Given the description of an element on the screen output the (x, y) to click on. 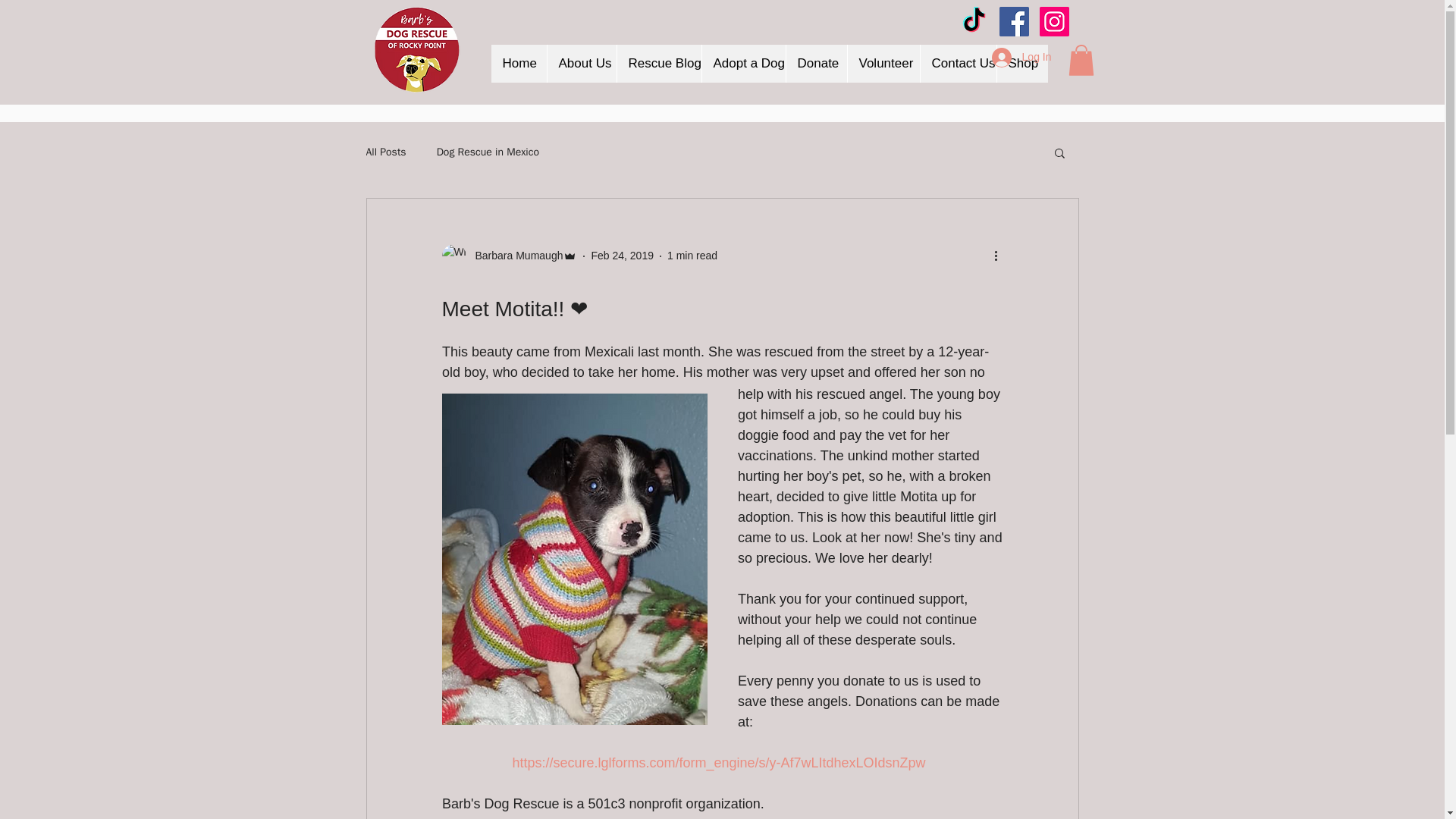
Donate (816, 63)
Barbara Mumaugh (508, 256)
Feb 24, 2019 (622, 255)
Adopt a Dog (742, 63)
Volunteer (881, 63)
Log In (1021, 57)
Rescue Blog (657, 63)
All Posts (385, 151)
About Us (580, 63)
Contact Us (956, 63)
1 min read (691, 255)
Shop (1021, 63)
Home (519, 63)
Dog Rescue in Mexico (487, 151)
Barbara Mumaugh (513, 255)
